Given the description of an element on the screen output the (x, y) to click on. 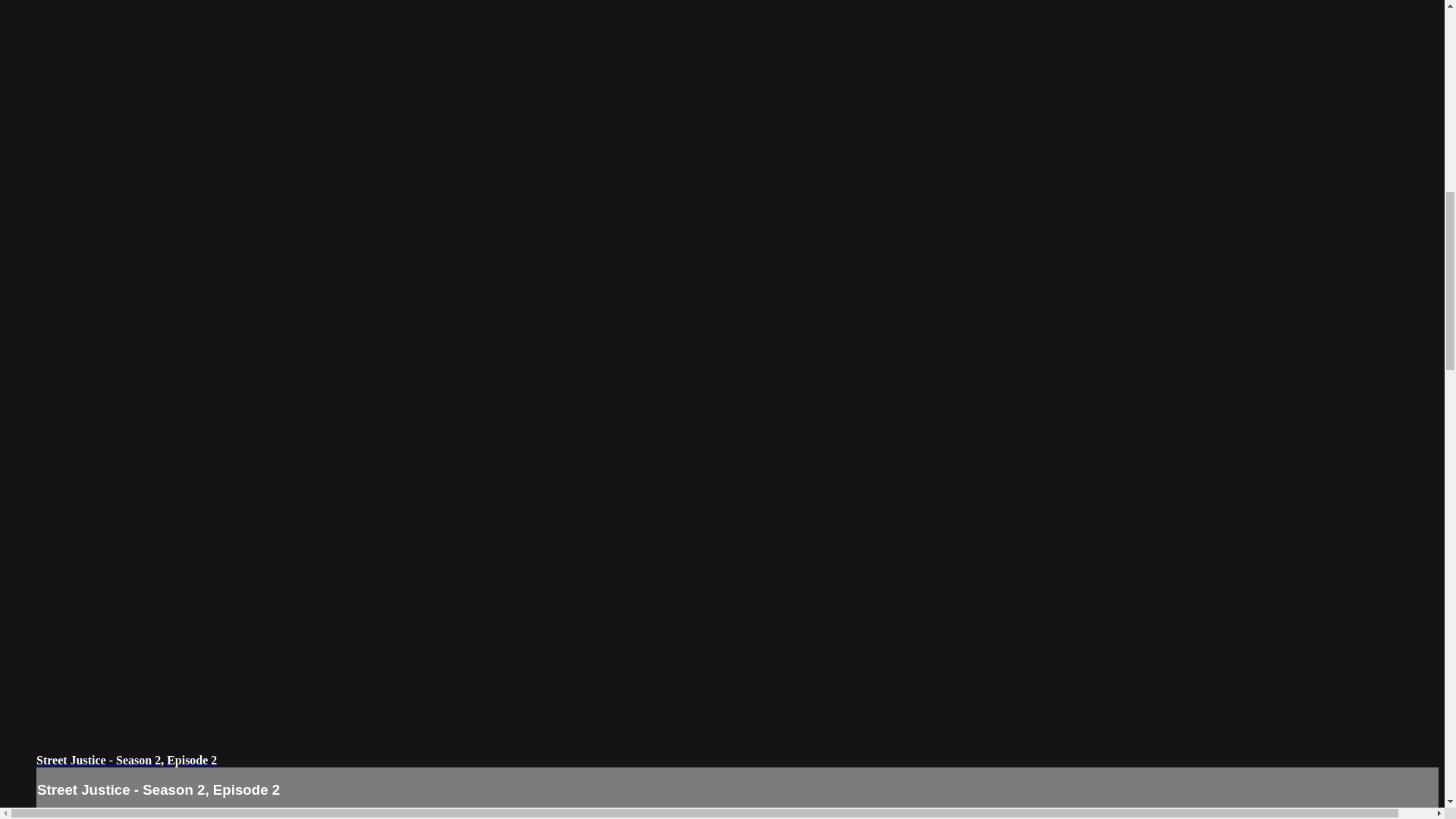
Street Justice - Season 2, Episode 2 (126, 759)
Street Justice - Season 2, Episode 2 (126, 759)
